Given the description of an element on the screen output the (x, y) to click on. 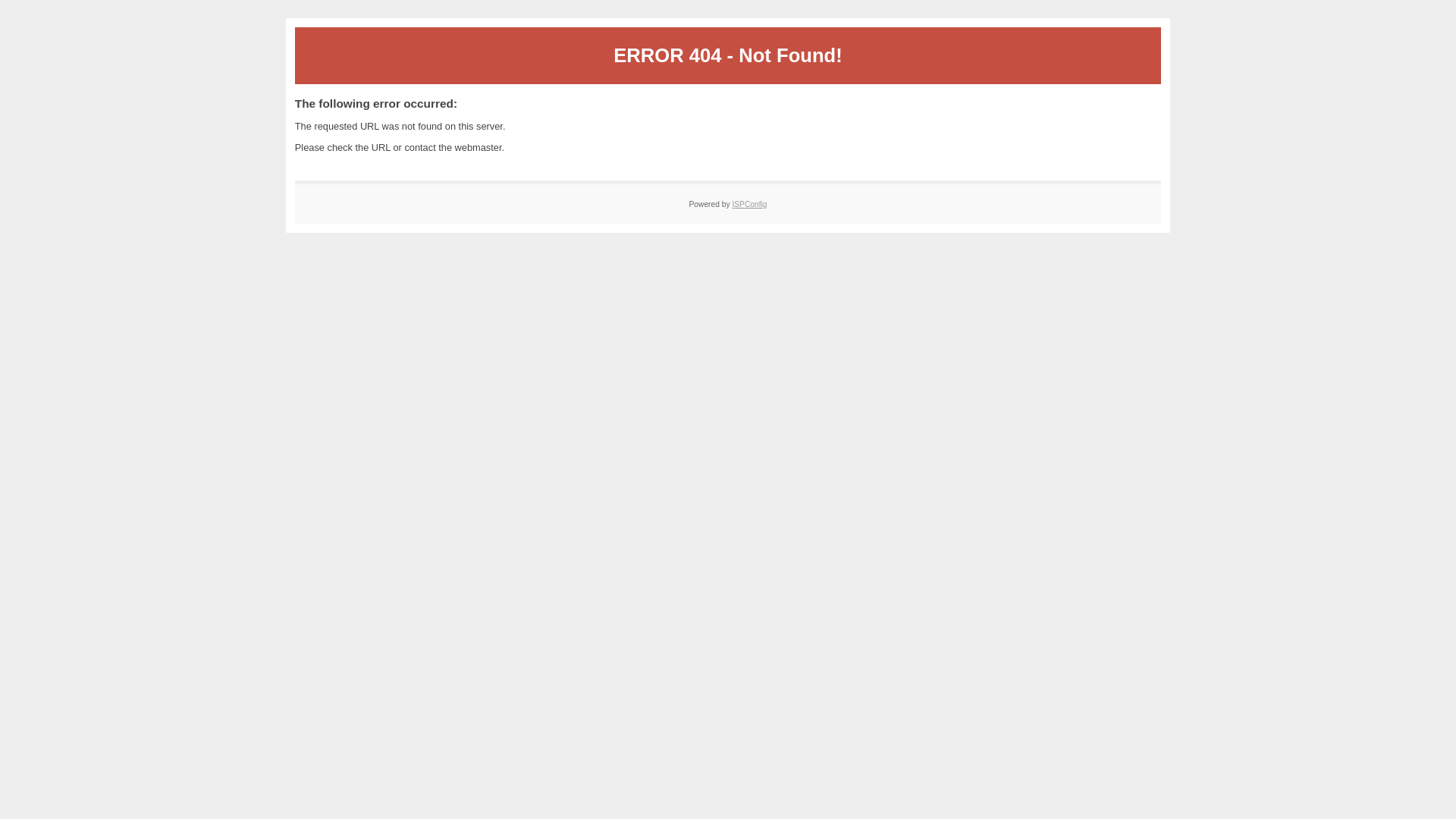
ISPConfig Element type: text (748, 204)
